Given the description of an element on the screen output the (x, y) to click on. 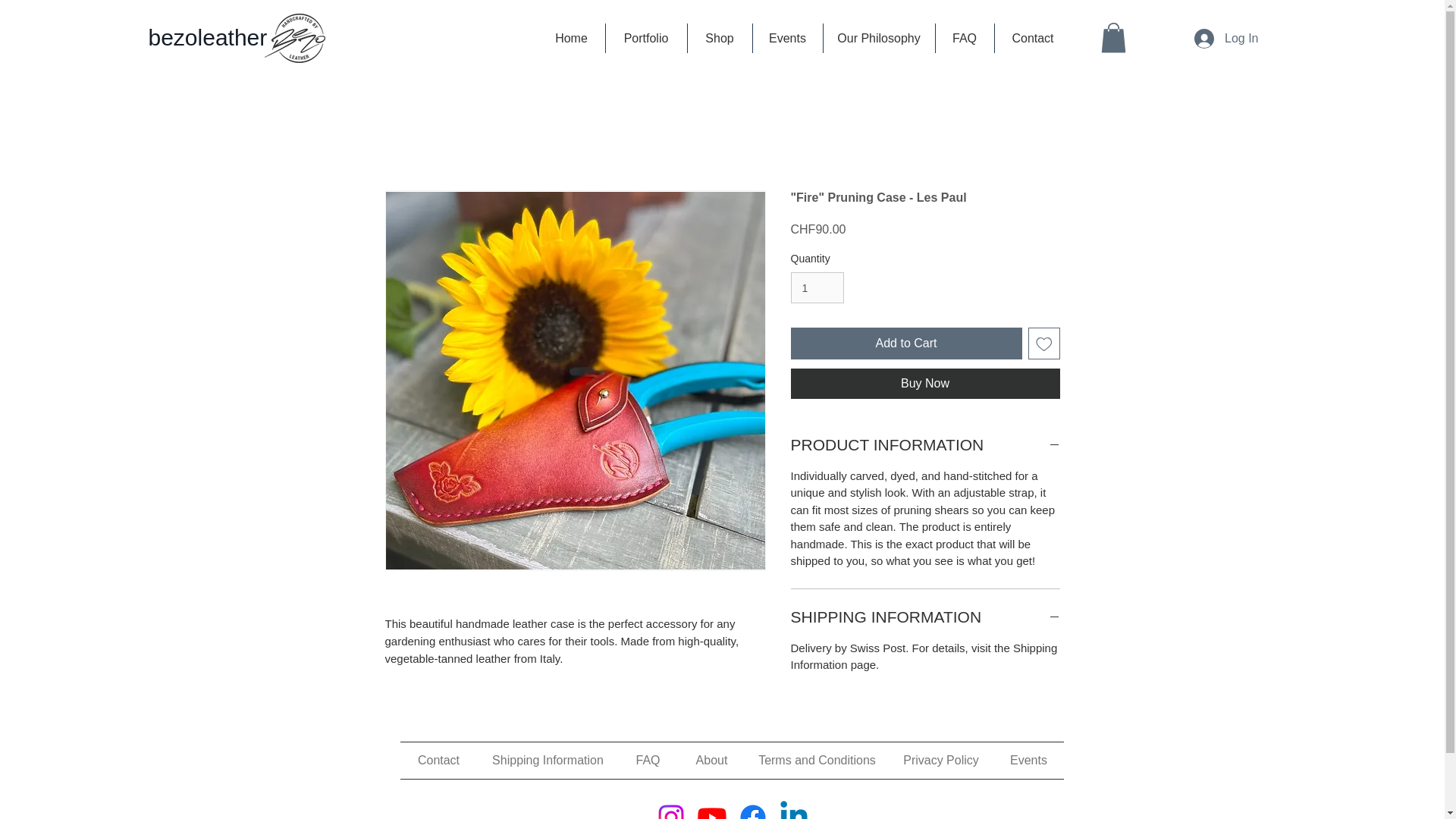
Our Philosophy (878, 38)
Terms and Conditions (816, 760)
Add to Cart (906, 343)
Shipping Information (547, 760)
Portfolio (646, 38)
About (711, 760)
bezoleather (207, 37)
SHIPPING INFORMATION (924, 617)
Events (1027, 760)
Shop (719, 38)
